Given the description of an element on the screen output the (x, y) to click on. 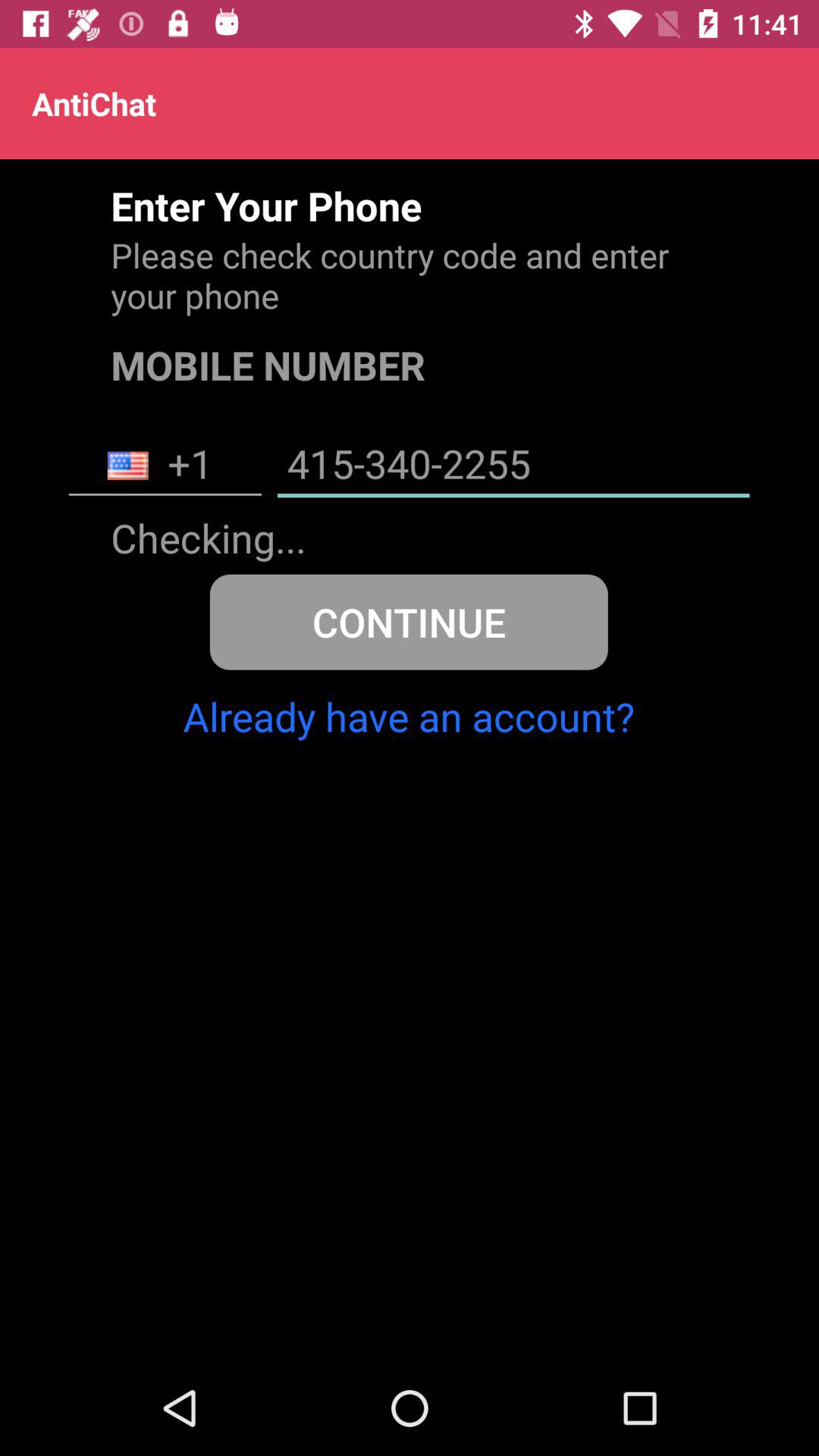
press icon above already have an icon (408, 621)
